Given the description of an element on the screen output the (x, y) to click on. 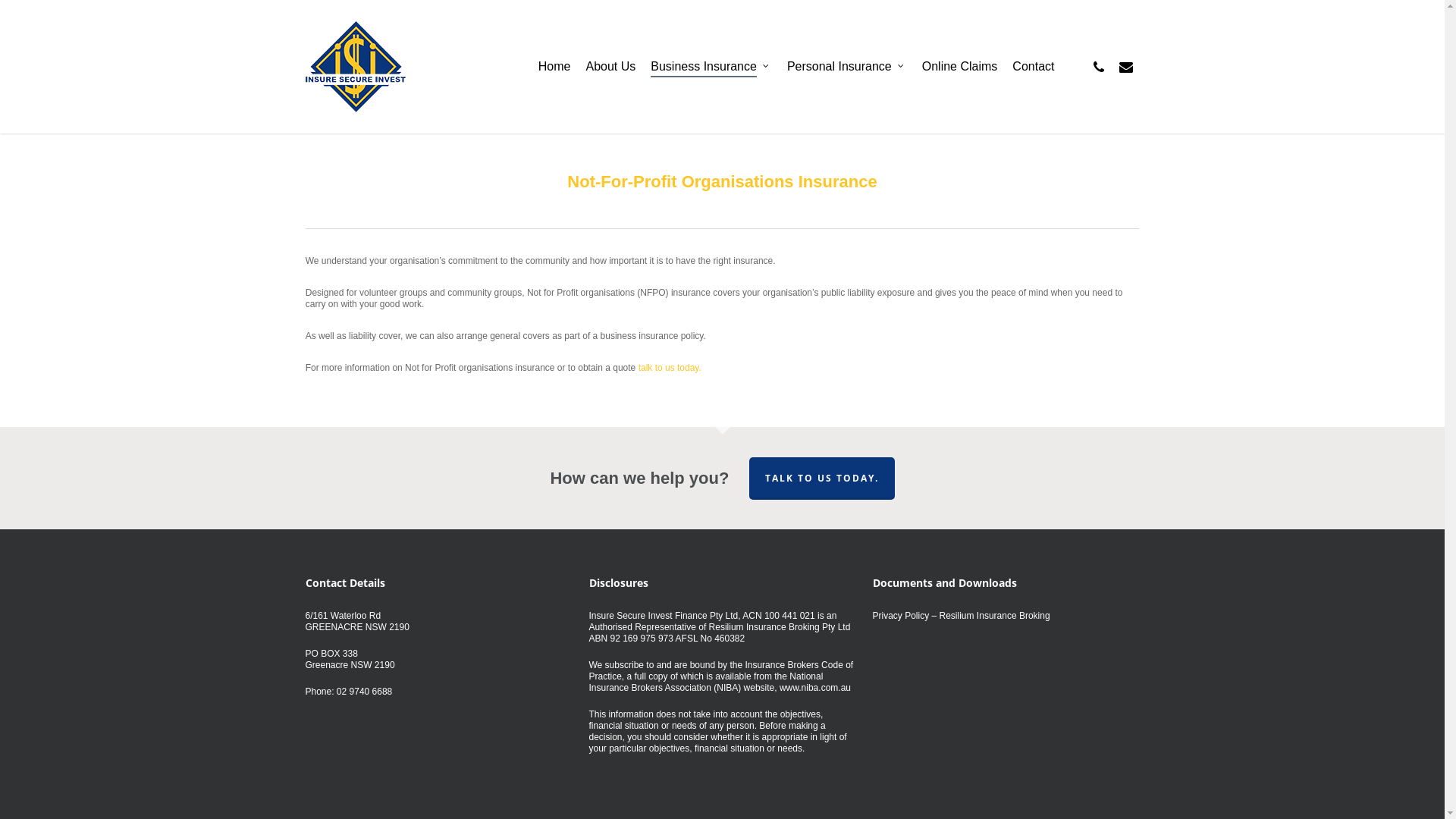
Online Claims Element type: text (959, 66)
email Element type: text (1125, 66)
About Us Element type: text (610, 66)
www.niba.com.au Element type: text (814, 687)
talk to us today. Element type: text (669, 367)
Business Insurance Element type: text (710, 66)
Home Element type: text (554, 66)
phone Element type: text (1097, 66)
Personal Insurance Element type: text (846, 66)
TALK TO US TODAY. Element type: text (821, 478)
Contact Element type: text (1033, 66)
